Given the description of an element on the screen output the (x, y) to click on. 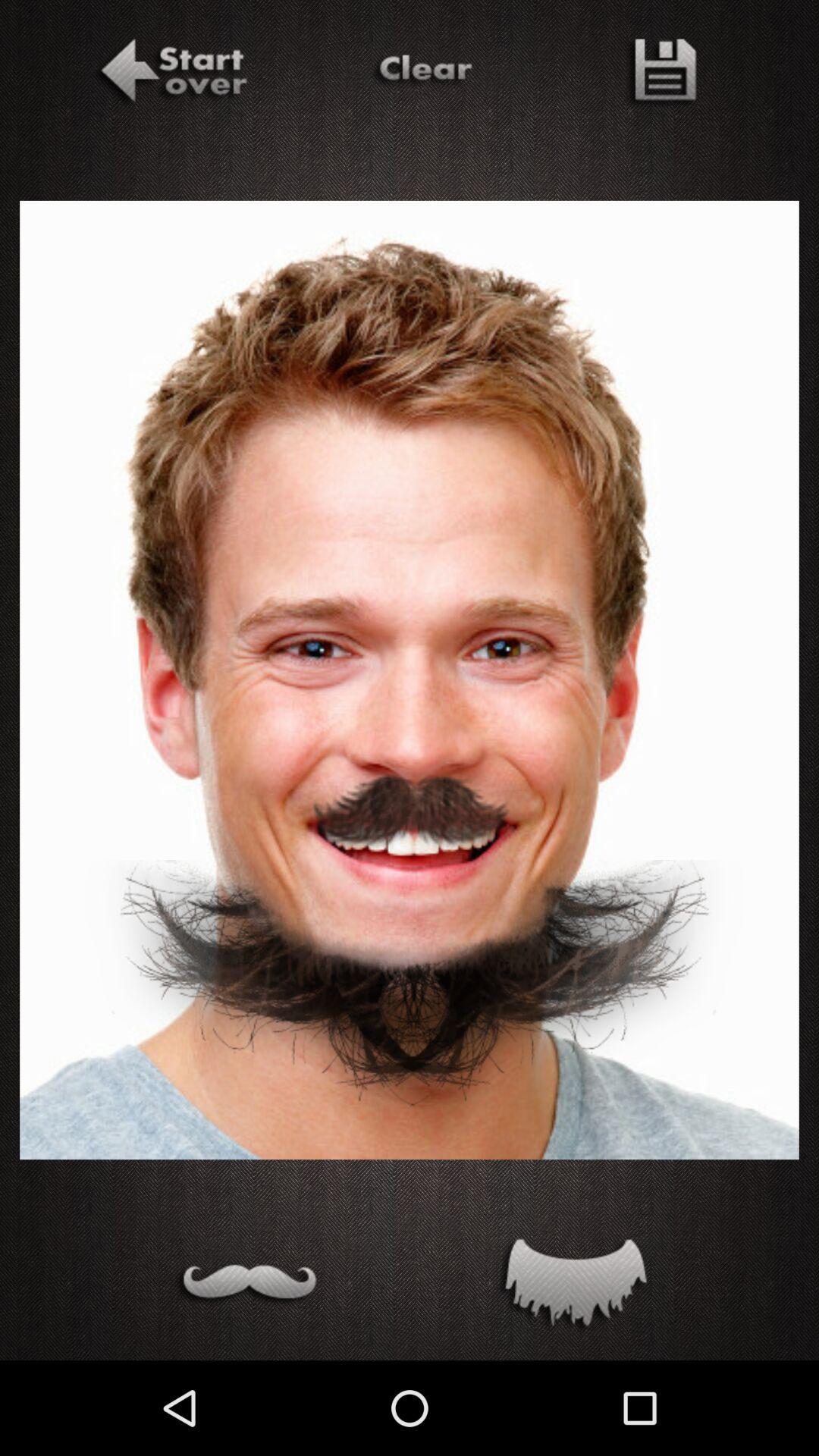
add mustache (245, 1286)
